Given the description of an element on the screen output the (x, y) to click on. 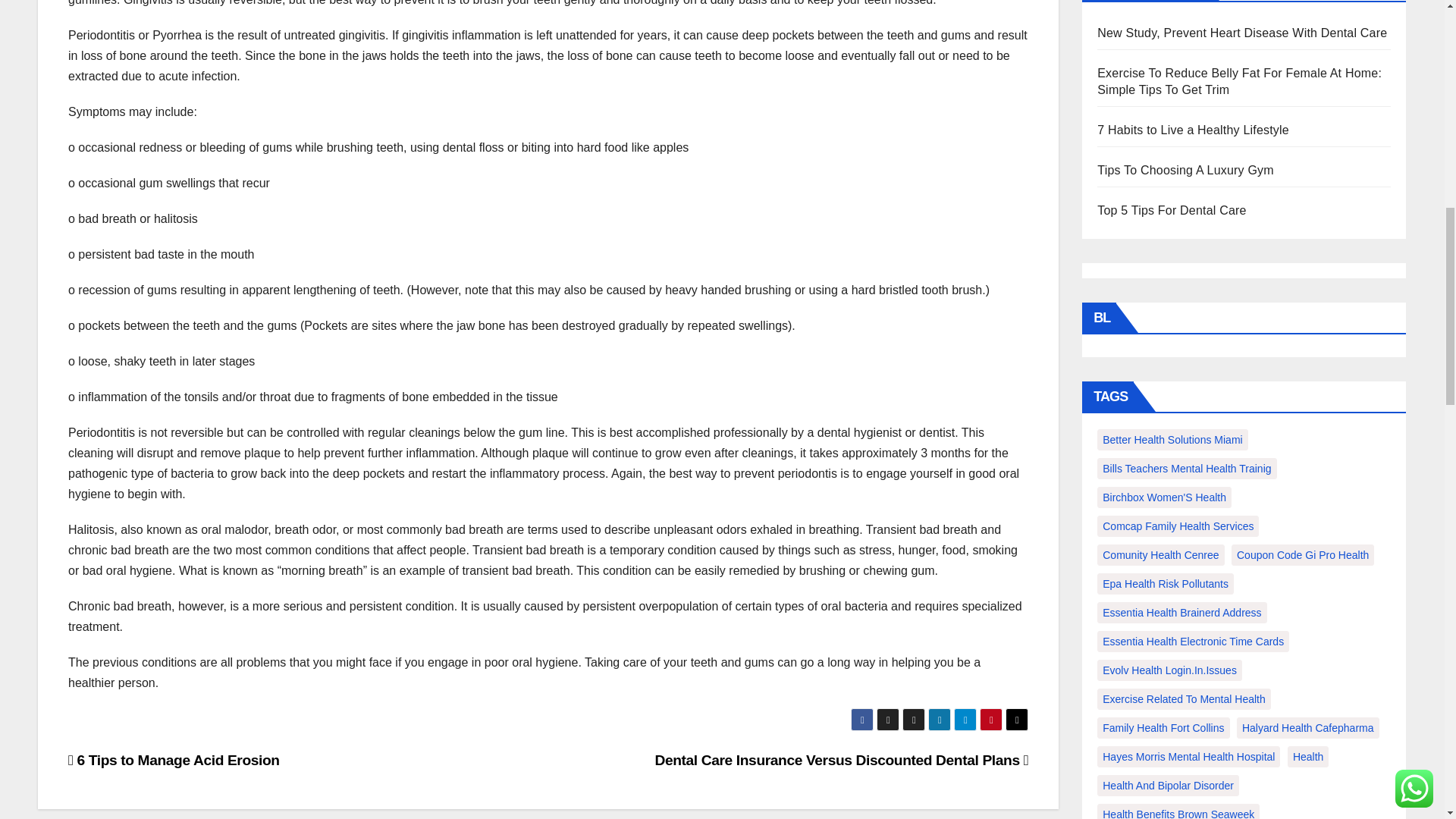
6 Tips to Manage Acid Erosion (173, 760)
Dental Care Insurance Versus Discounted Dental Plans (840, 760)
